Given the description of an element on the screen output the (x, y) to click on. 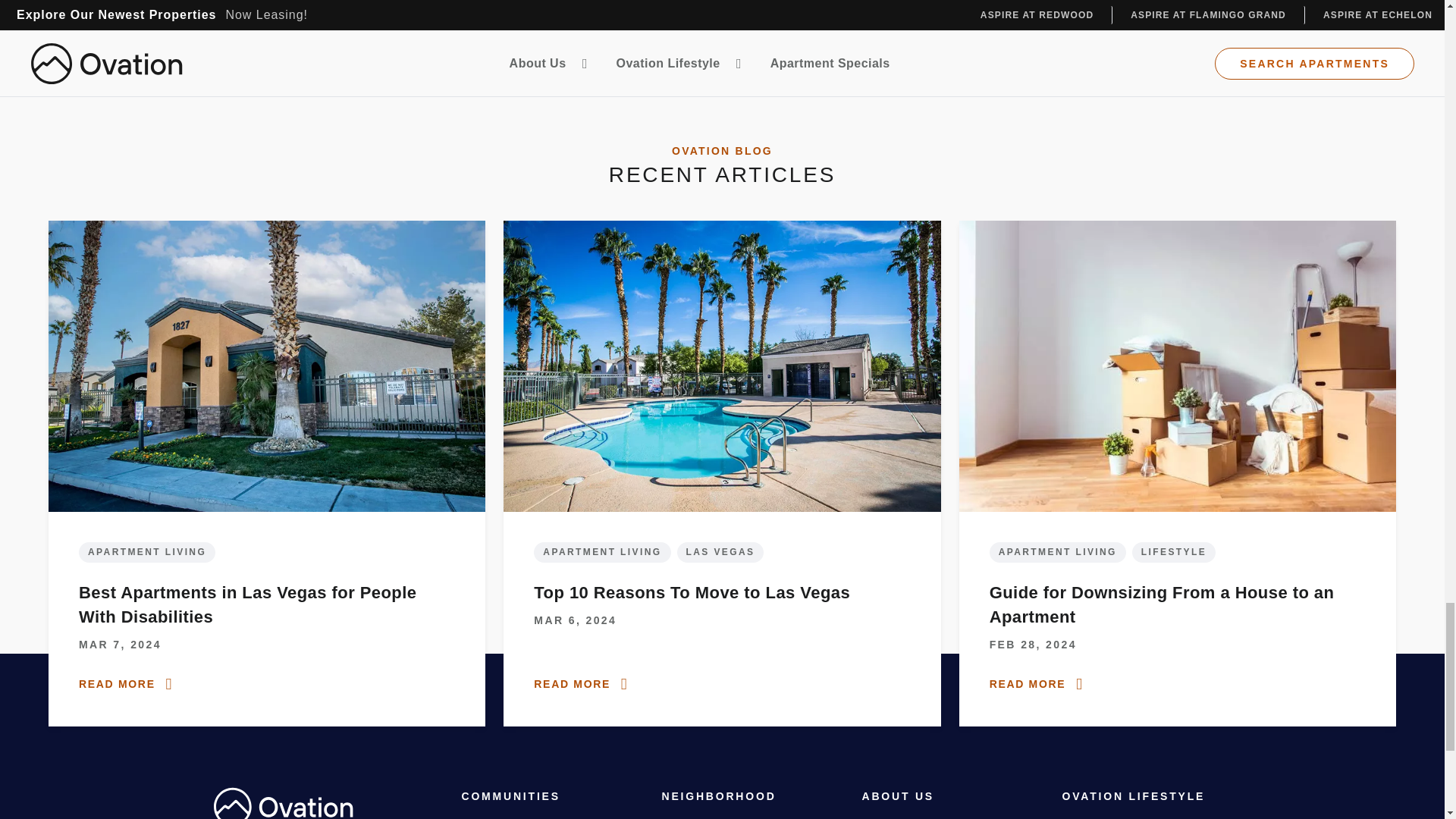
READ MORE (1038, 683)
Find Your Next Apartment (362, 83)
Best Apartments in Las Vegas for People With Disabilities (266, 604)
READ MORE (127, 683)
READ MORE (582, 683)
Guide for Downsizing From a House to an Apartment (1177, 604)
View our luxury apartment communities around Las Vegas. (457, 34)
Top 10 Reasons To Move to Las Vegas (692, 592)
